Given the description of an element on the screen output the (x, y) to click on. 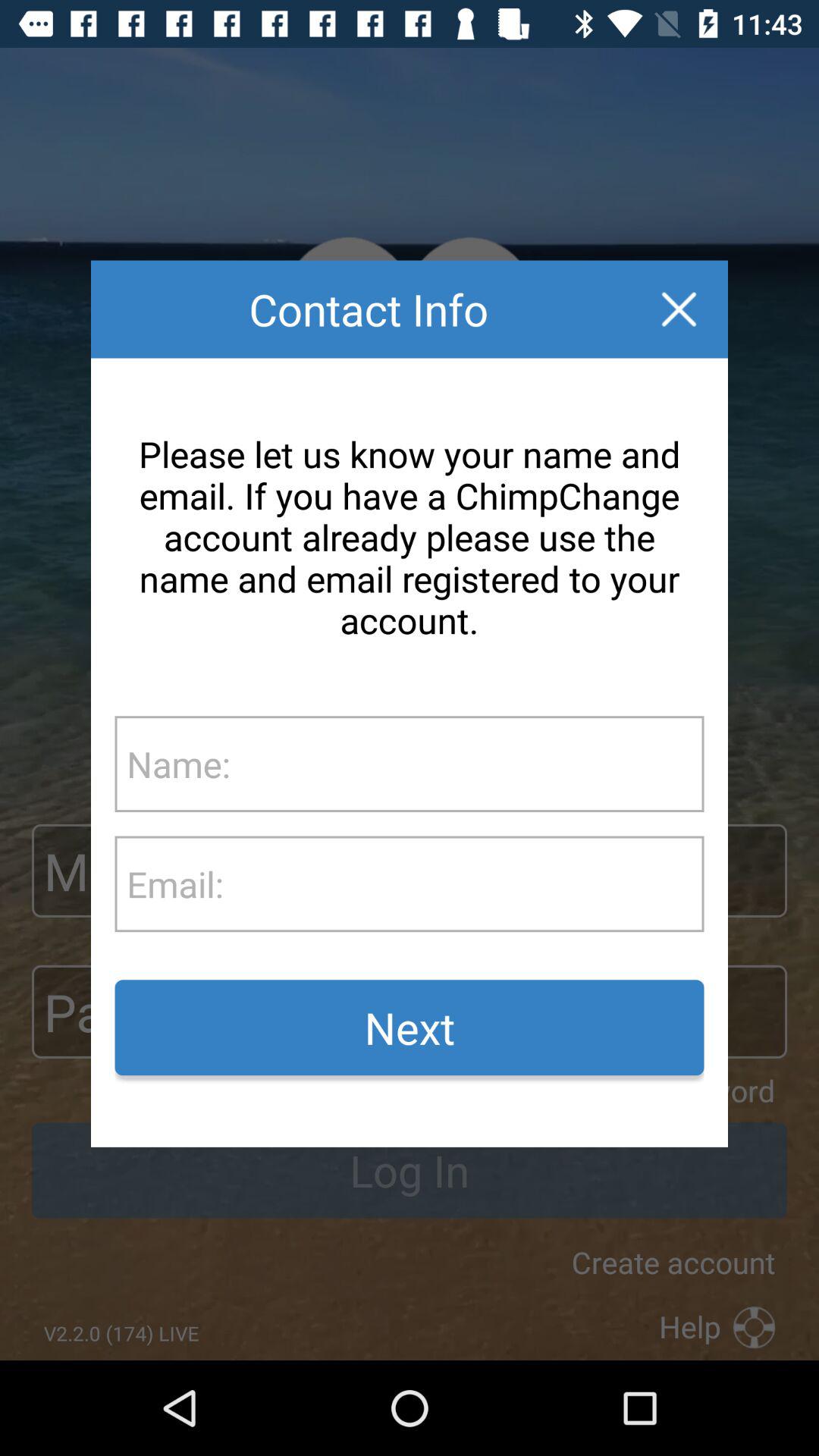
text box (463, 884)
